Given the description of an element on the screen output the (x, y) to click on. 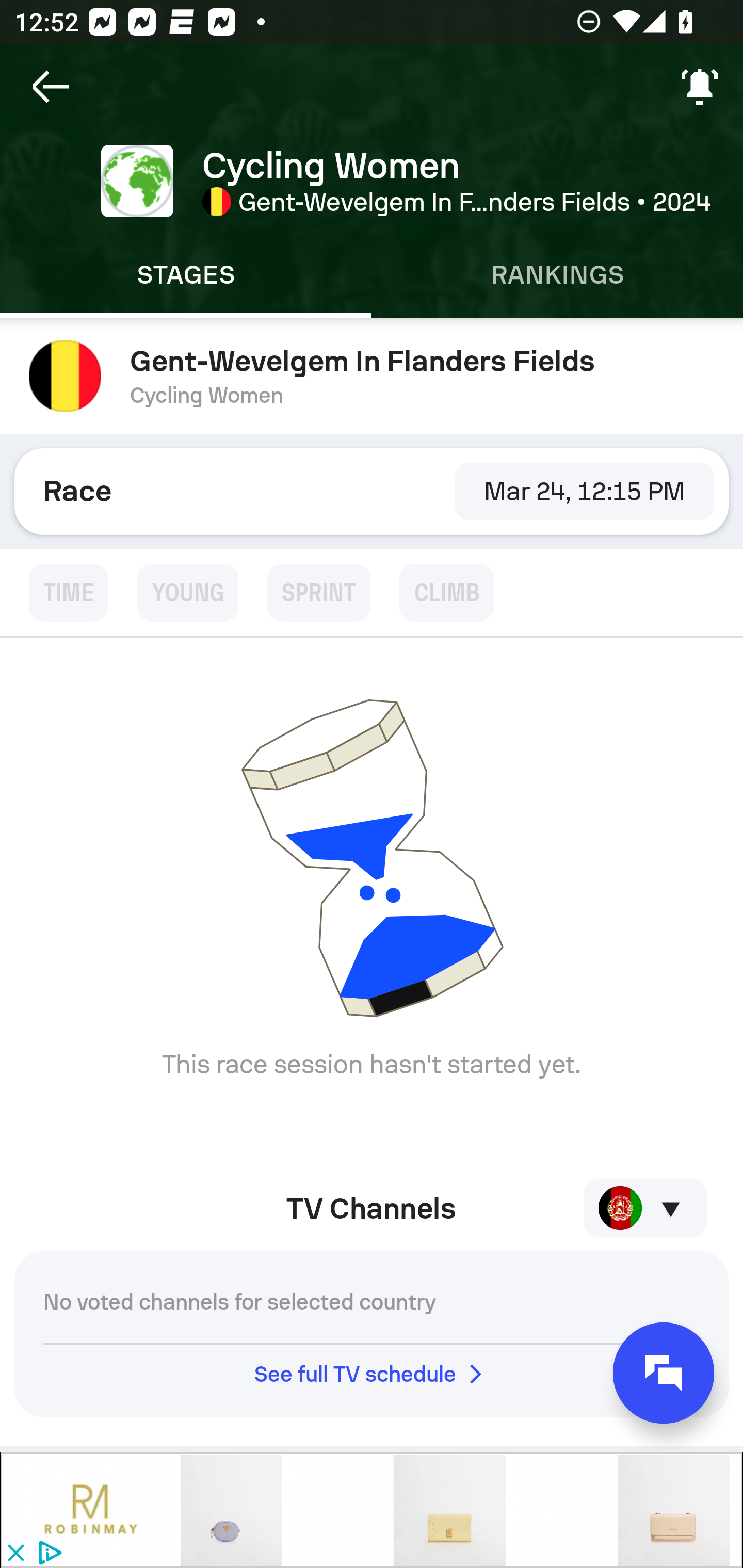
Navigate up (50, 86)
Rankings RANKINGS (557, 275)
Race Mar 24, 12:15 PM (371, 491)
Mar 24, 12:15 PM (584, 491)
CHAT (663, 1372)
See full TV schedule (371, 1374)
privacy_small close_button                      (371, 1509)
close_button (14, 1553)
privacy_small (47, 1553)
